Given the description of an element on the screen output the (x, y) to click on. 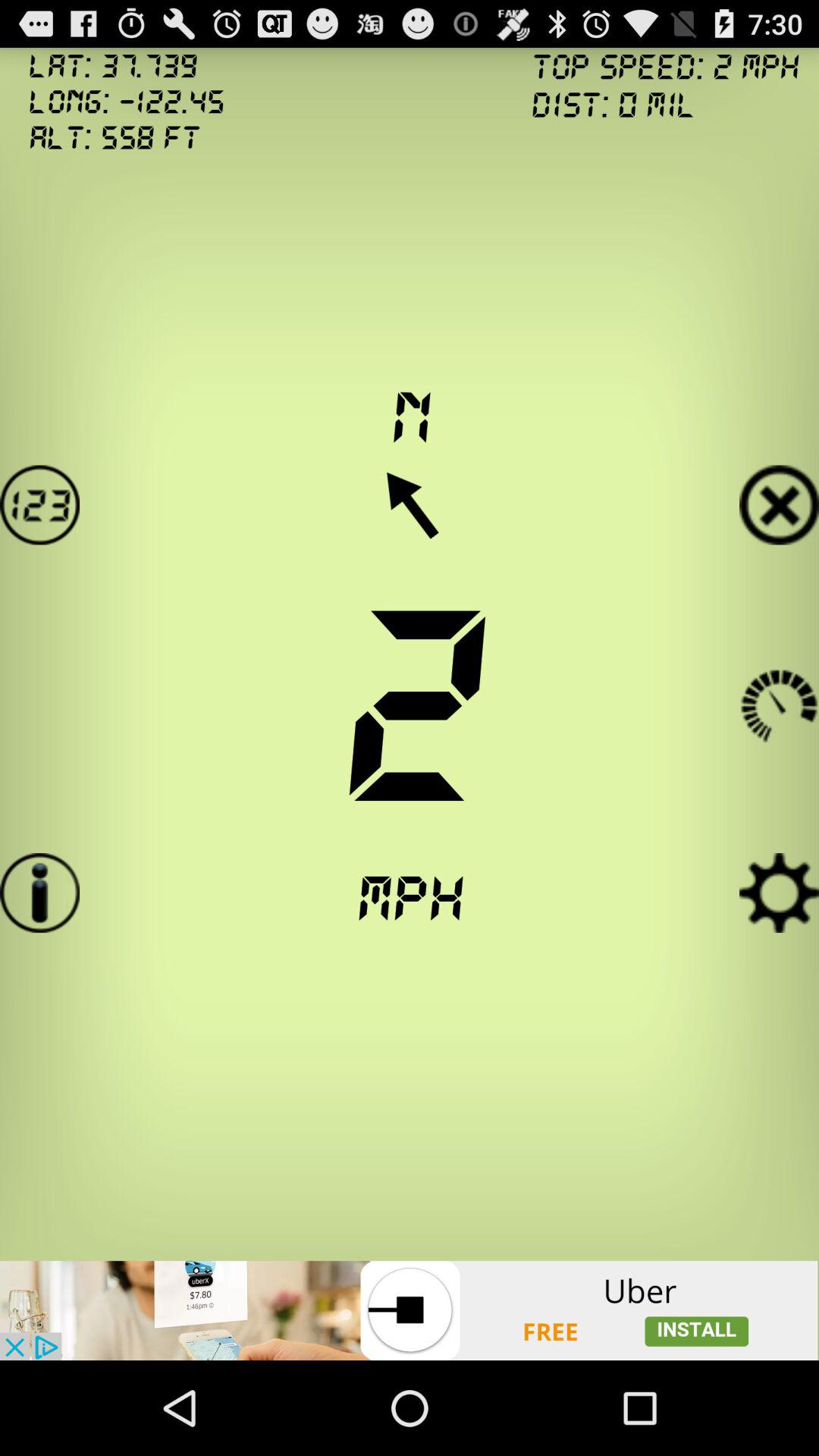
app advertisement (409, 1310)
